Given the description of an element on the screen output the (x, y) to click on. 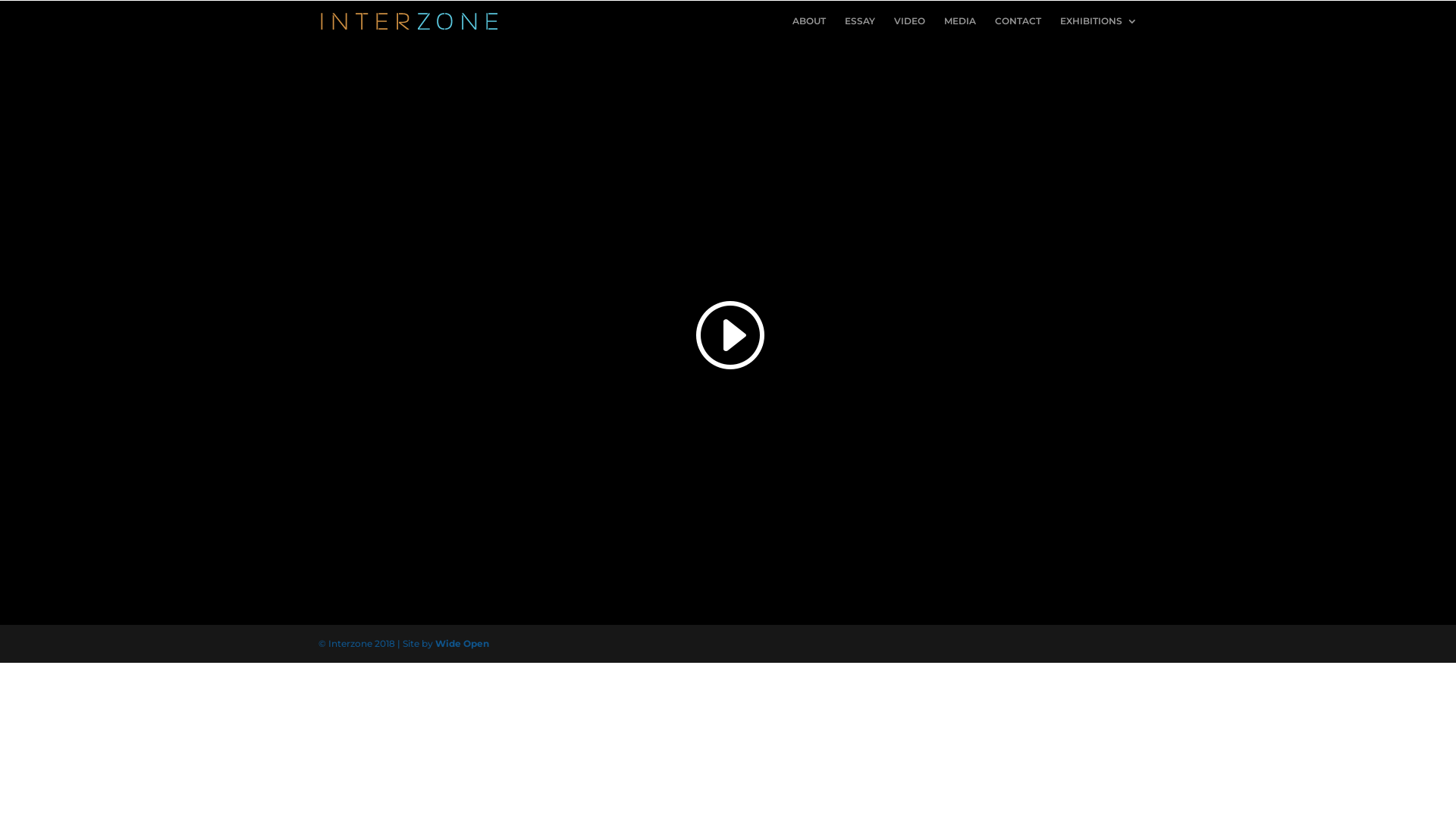
MEDIA Element type: text (959, 28)
VIDEO Element type: text (909, 28)
EXHIBITIONS Element type: text (1098, 28)
Small Hours Element type: hover (727, 332)
ESSAY Element type: text (859, 28)
Wide Open Element type: text (462, 643)
ABOUT Element type: text (808, 28)
CONTACT Element type: text (1017, 28)
